Given the description of an element on the screen output the (x, y) to click on. 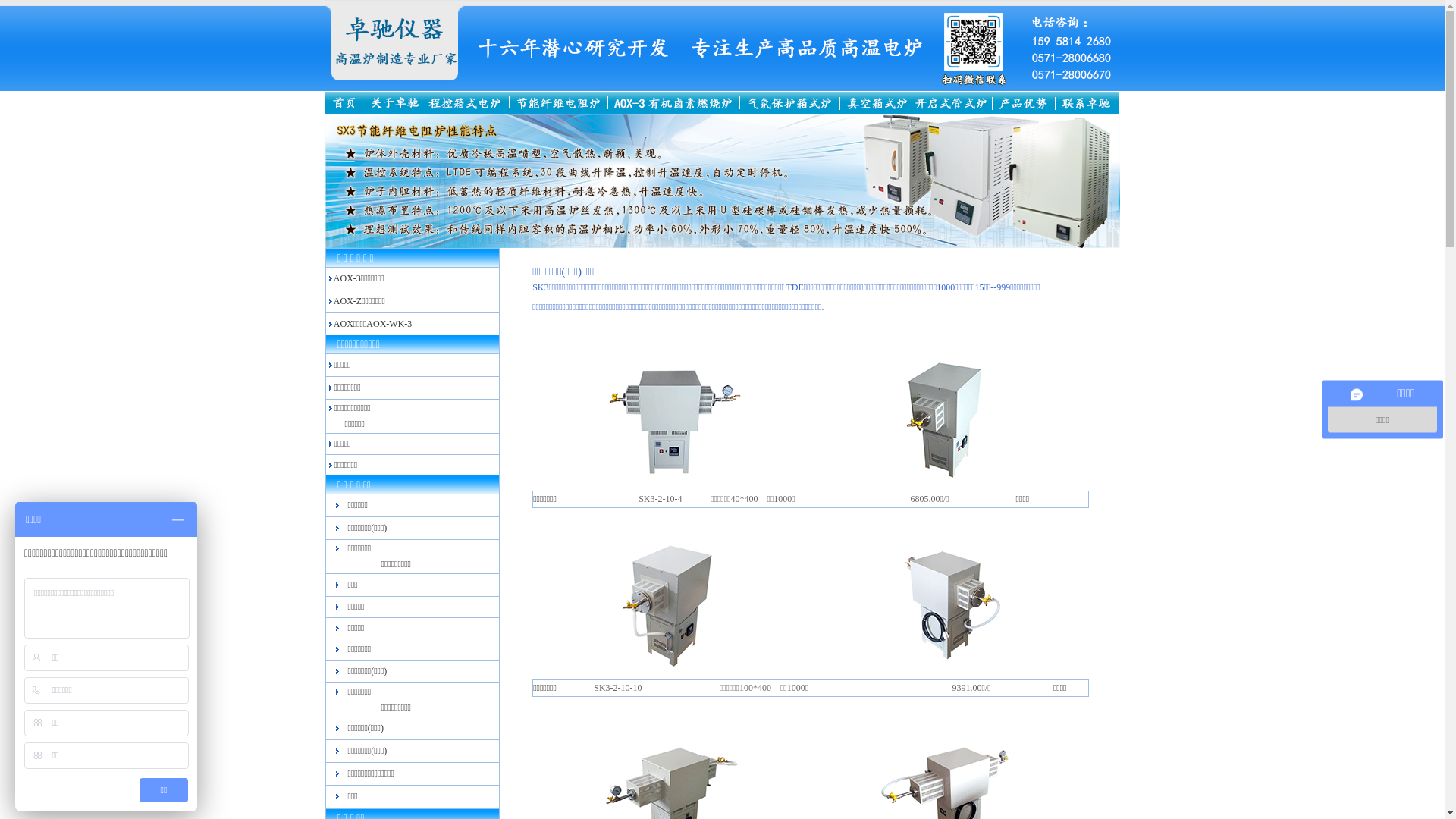
SK3-2-10-4 Element type: text (659, 498)
SK3-2-10-10 Element type: text (617, 687)
